Given the description of an element on the screen output the (x, y) to click on. 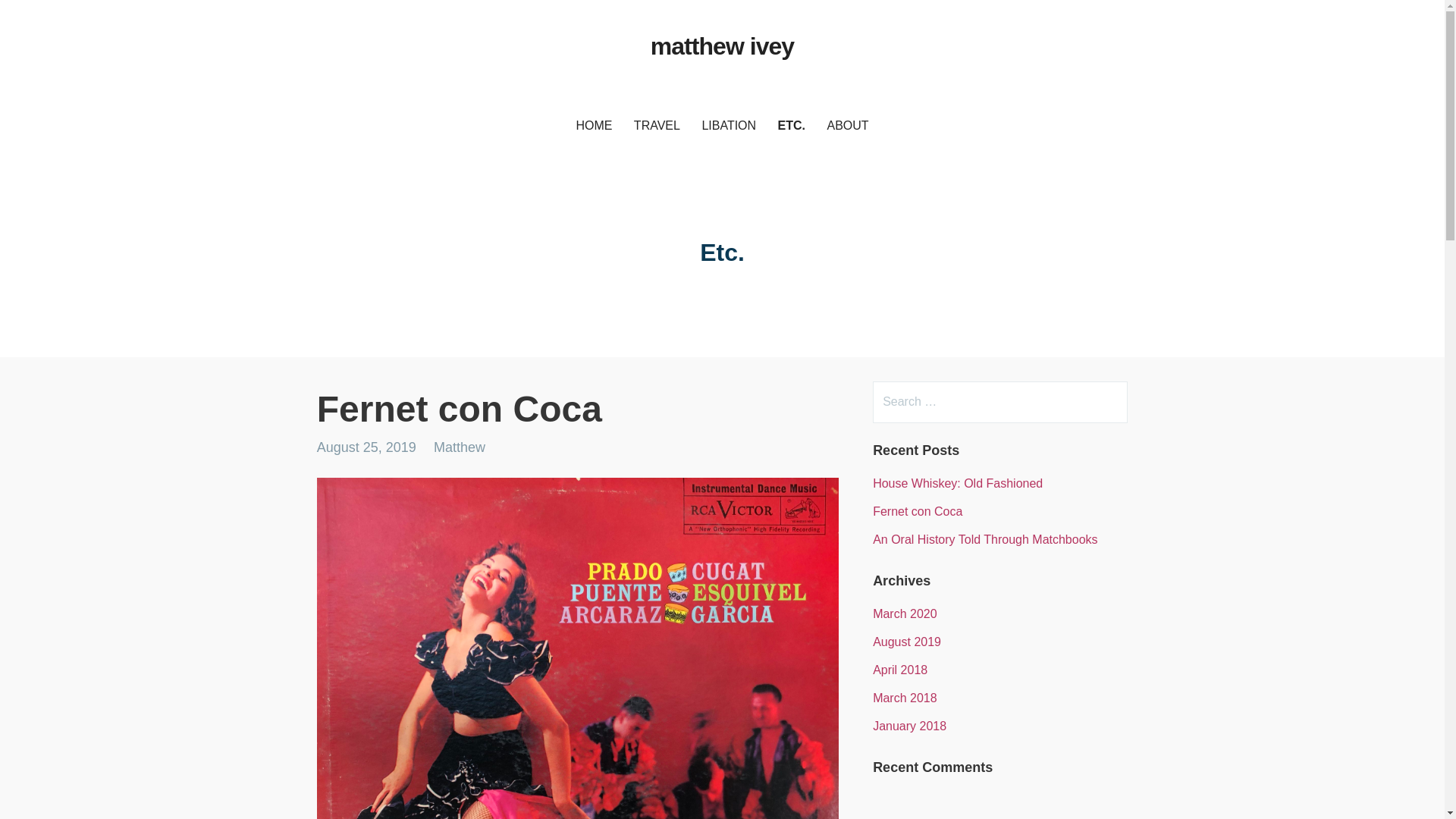
March 2018 (904, 697)
House Whiskey: Old Fashioned (957, 482)
Matthew (458, 447)
TRAVEL (656, 126)
LIBATION (729, 126)
Fernet con Coca (917, 511)
matthew ivey (721, 45)
January 2018 (909, 725)
April 2018 (899, 669)
HOME (593, 126)
Posts by Matthew (458, 447)
March 2020 (904, 613)
Search (42, 18)
An Oral History Told Through Matchbooks (984, 539)
ABOUT (846, 126)
